Given the description of an element on the screen output the (x, y) to click on. 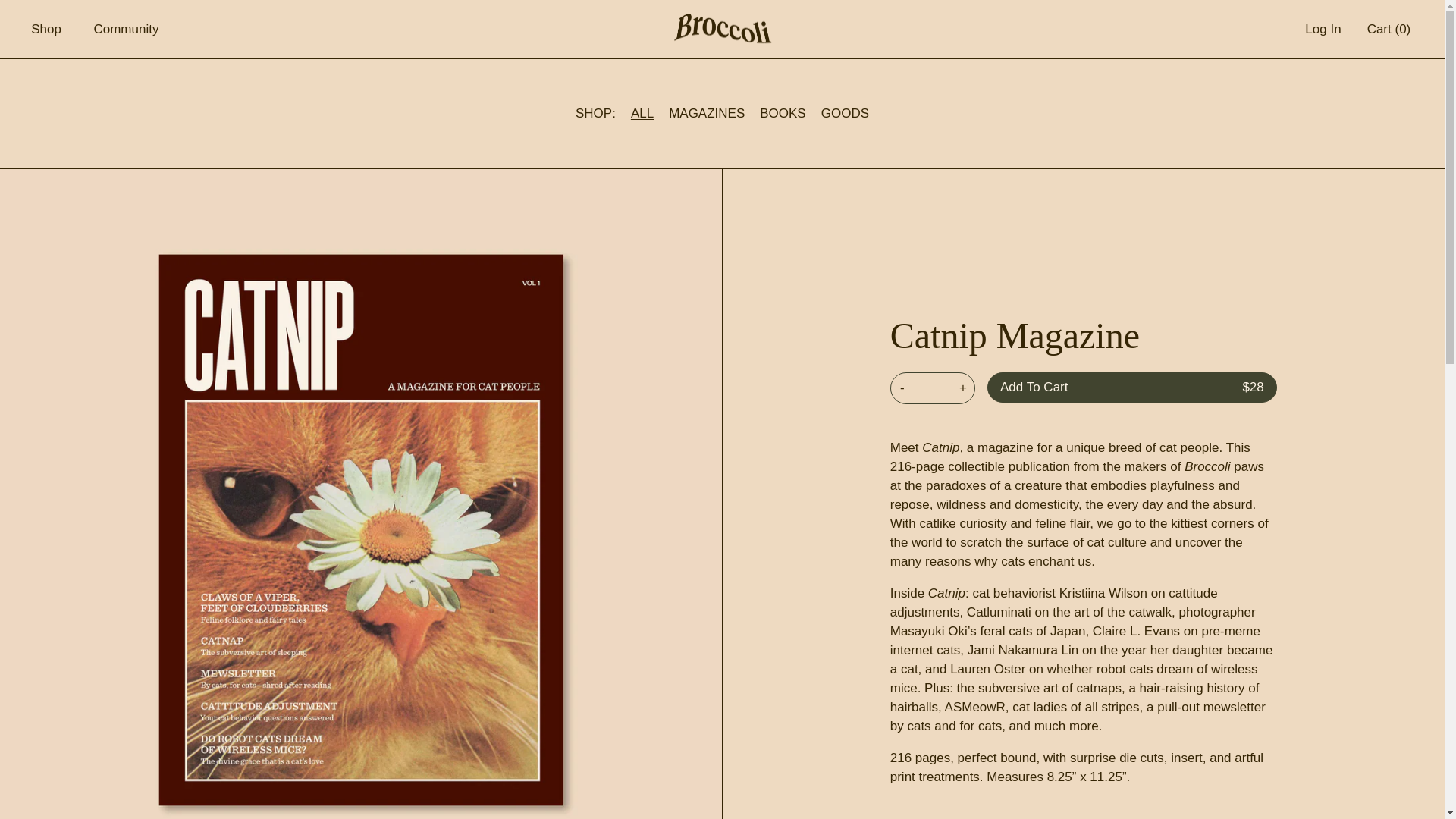
Shop (45, 29)
Community (125, 29)
